Given the description of an element on the screen output the (x, y) to click on. 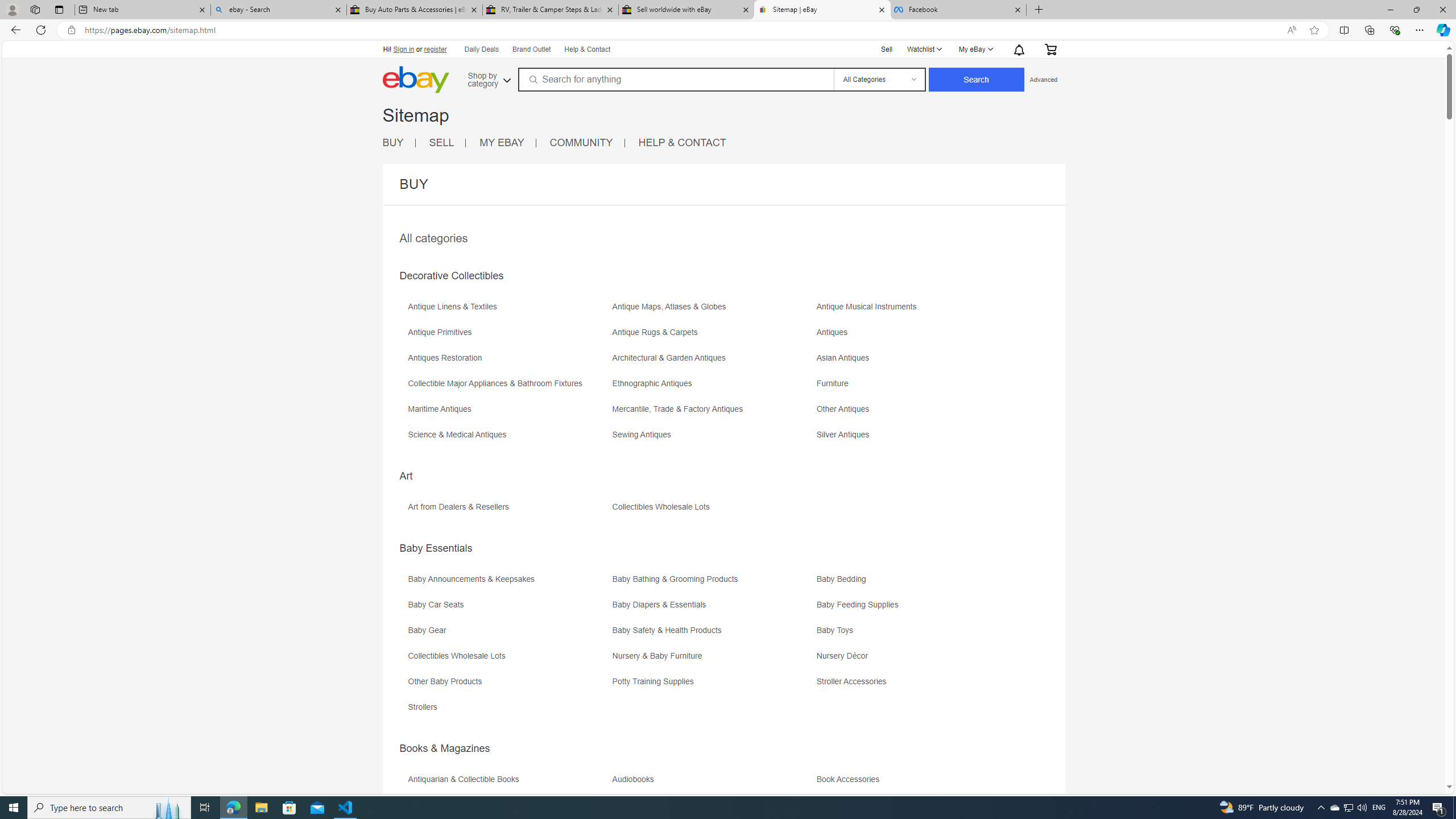
Art from Dealers & Resellers (508, 510)
Baby Bathing & Grooming Products (712, 582)
Antiquarian & Collectible Books (508, 783)
Watchlist (923, 49)
Antiques Restoration (508, 361)
Antique Primitives (508, 336)
Help & Contact (587, 49)
Science & Medical Antiques (459, 434)
Baby Feeding Supplies (917, 608)
Baby Gear (429, 630)
Other Baby Products (447, 681)
